Given the description of an element on the screen output the (x, y) to click on. 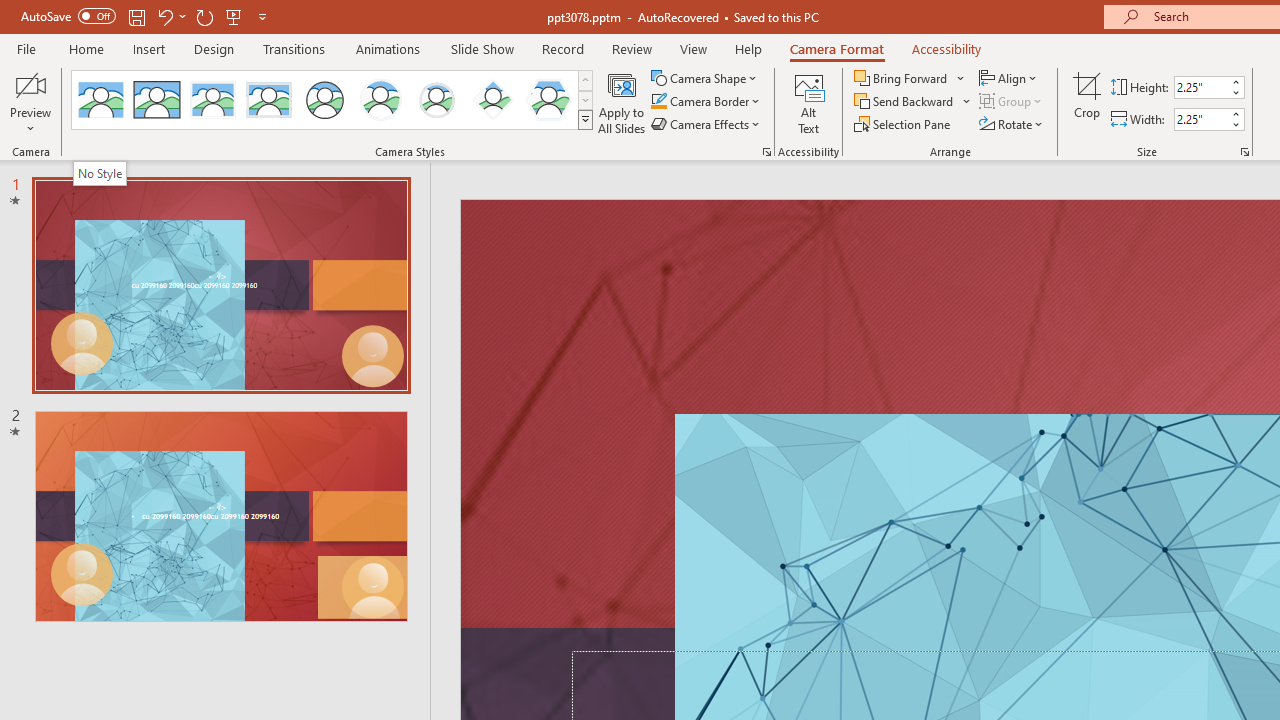
Simple Frame Rectangle (157, 100)
No Style (99, 173)
Cameo Width (1201, 119)
More (1235, 113)
AutomationID: CameoStylesGallery (333, 99)
No Style (100, 100)
Soft Edge Circle (436, 100)
Simple Frame Circle (324, 100)
Center Shadow Circle (381, 100)
